Given the description of an element on the screen output the (x, y) to click on. 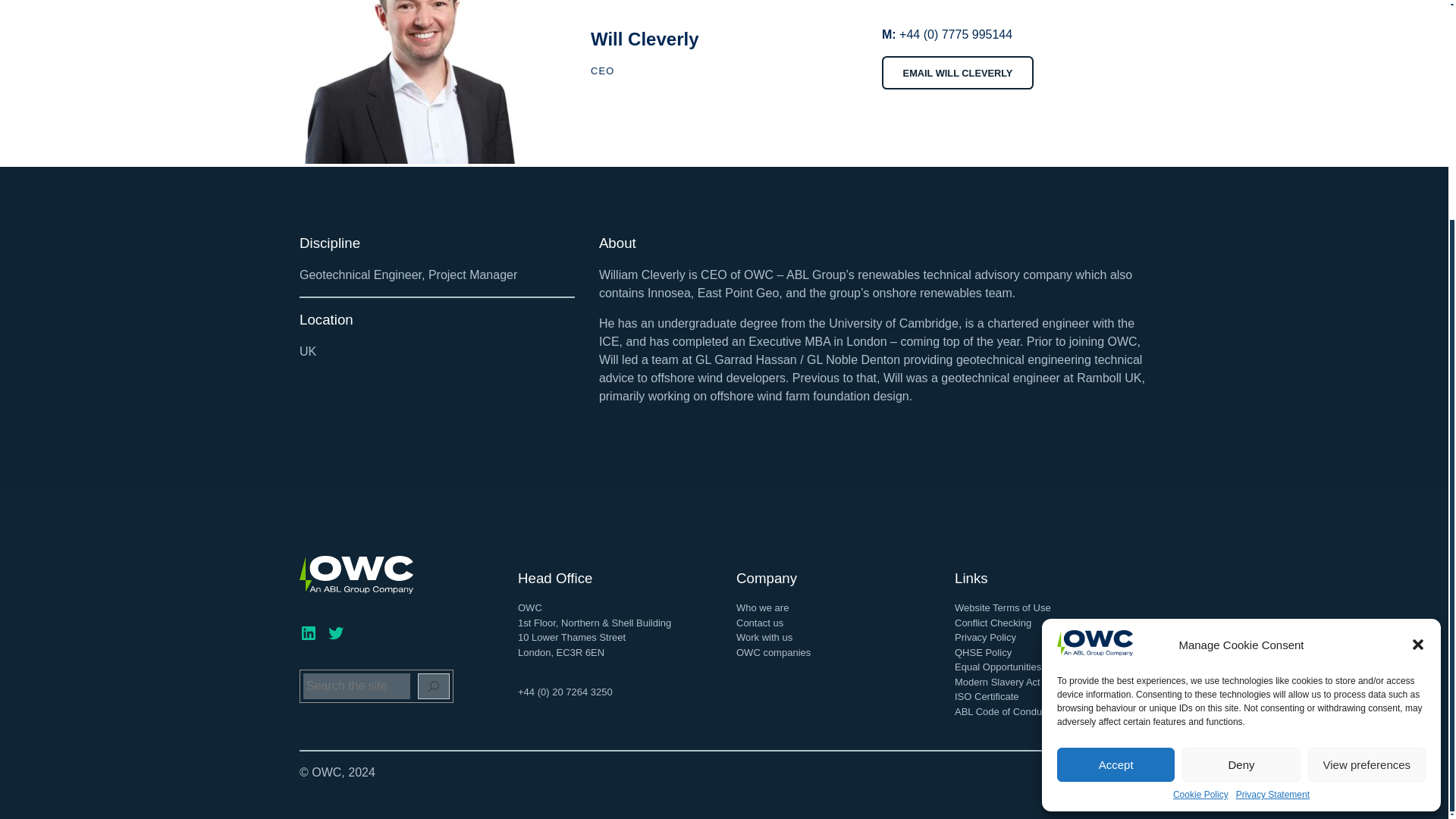
Deny (1241, 471)
Accept (1115, 471)
Privacy Statement (1272, 501)
View preferences (1366, 471)
Cookie Policy (1200, 501)
